Given the description of an element on the screen output the (x, y) to click on. 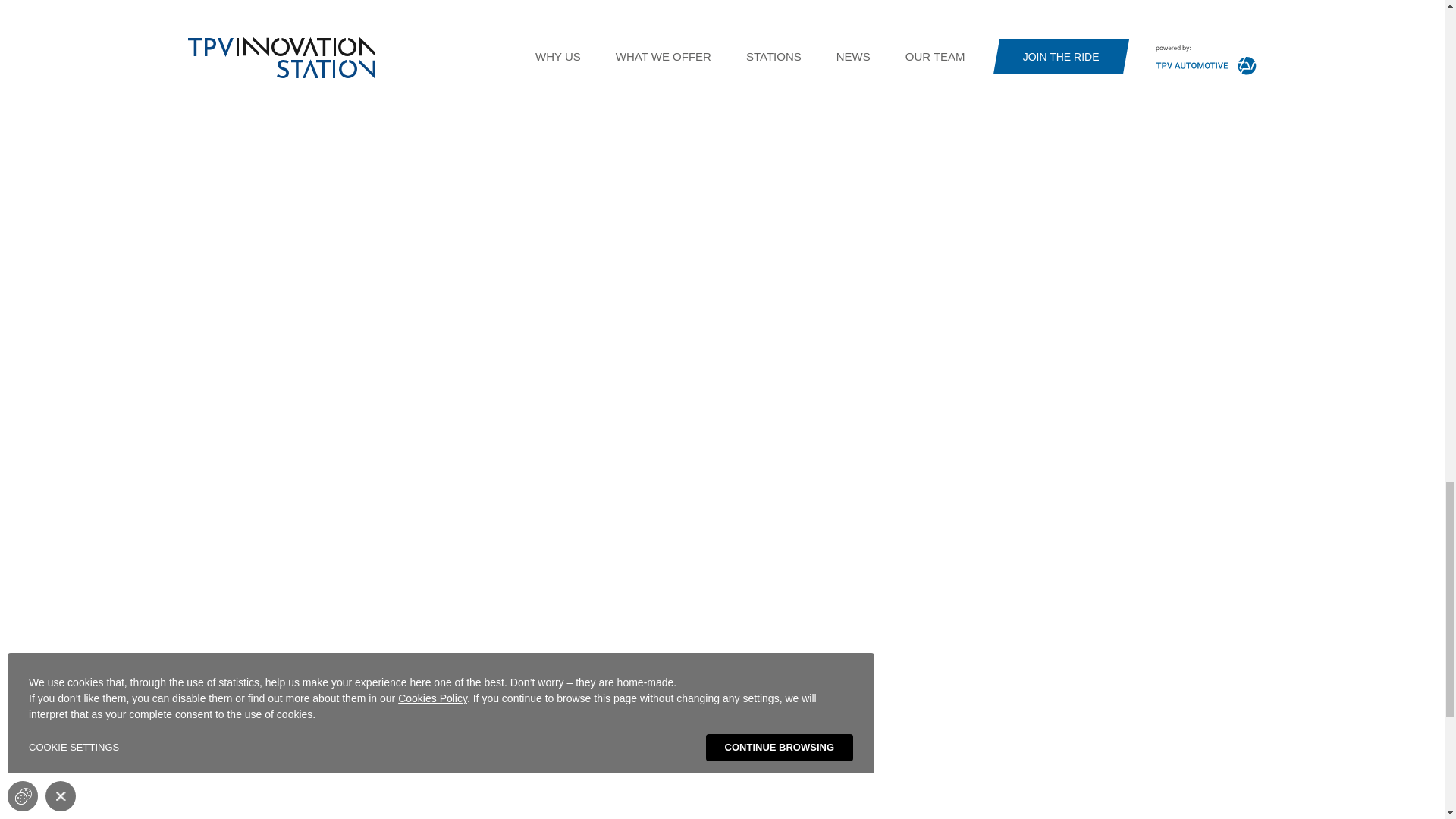
JOIN NOW (449, 94)
